Given the description of an element on the screen output the (x, y) to click on. 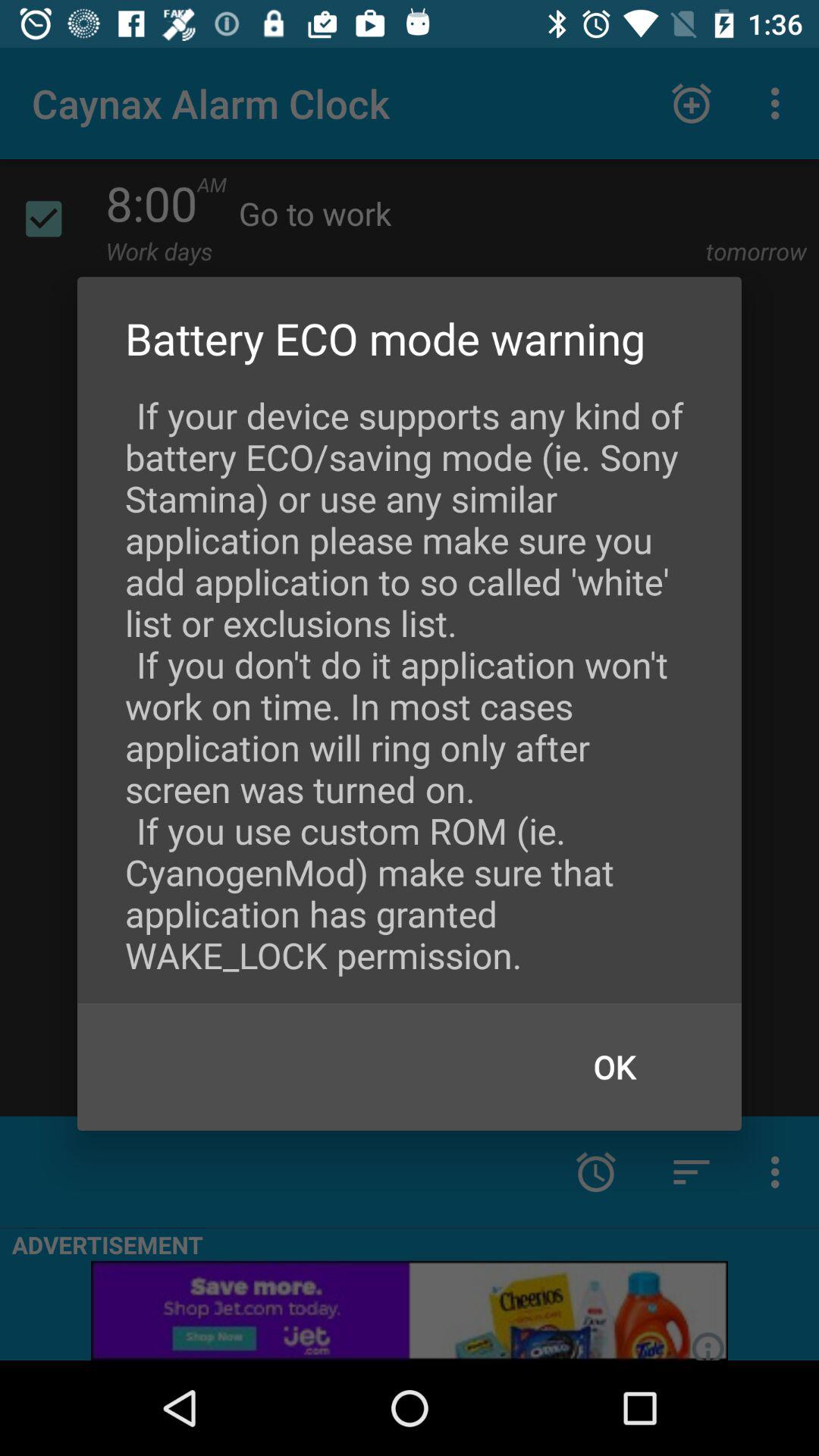
turn off the icon at the bottom right corner (613, 1066)
